Given the description of an element on the screen output the (x, y) to click on. 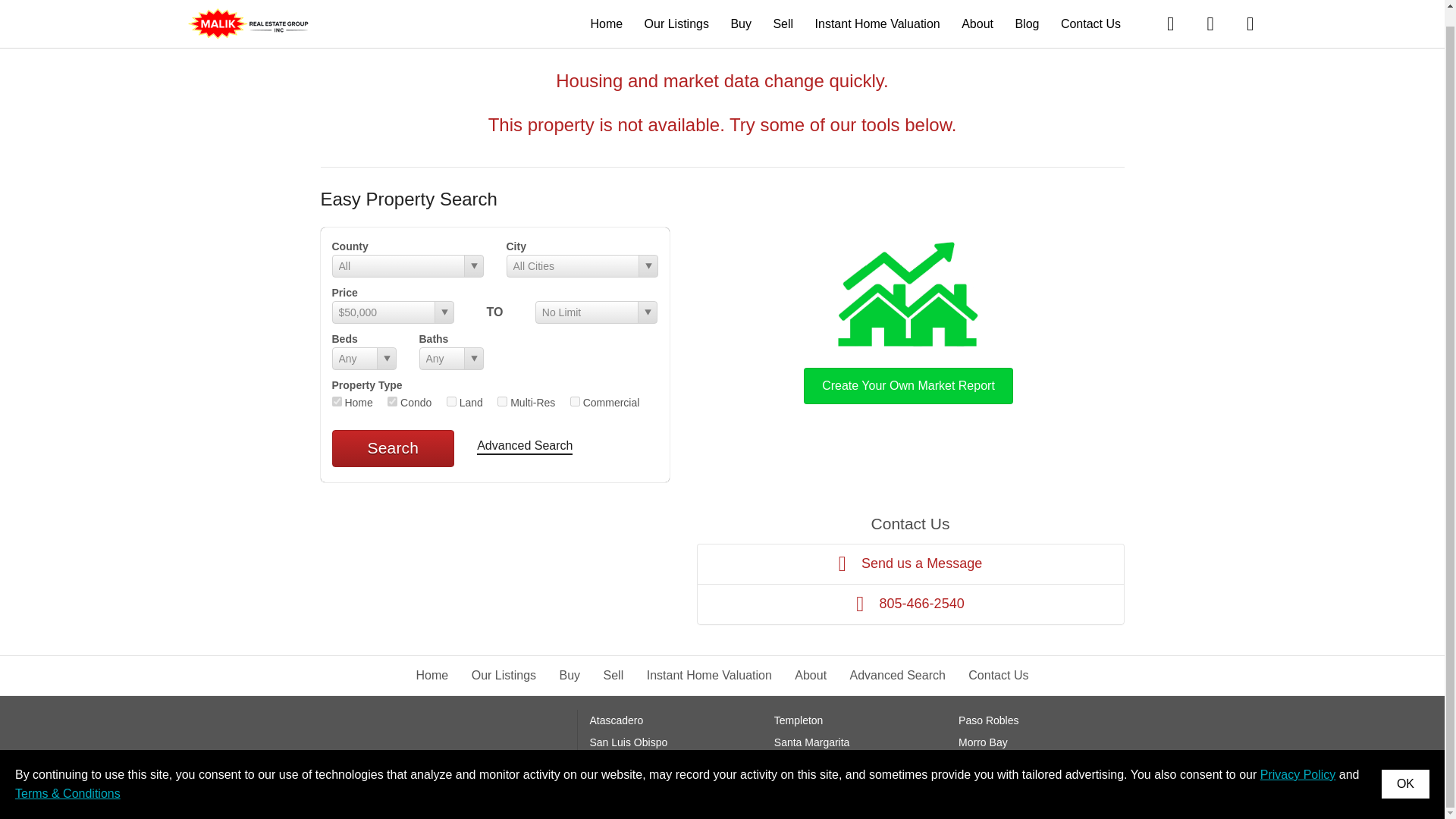
Create Your Own Market Report (908, 319)
Contact Us (1091, 7)
Advanced Search (524, 446)
lnd (451, 401)
805-466-2540 (909, 603)
Templeton (799, 720)
con (392, 401)
Sell (783, 7)
Instant Home Valuation (877, 7)
Search (392, 447)
